Given the description of an element on the screen output the (x, y) to click on. 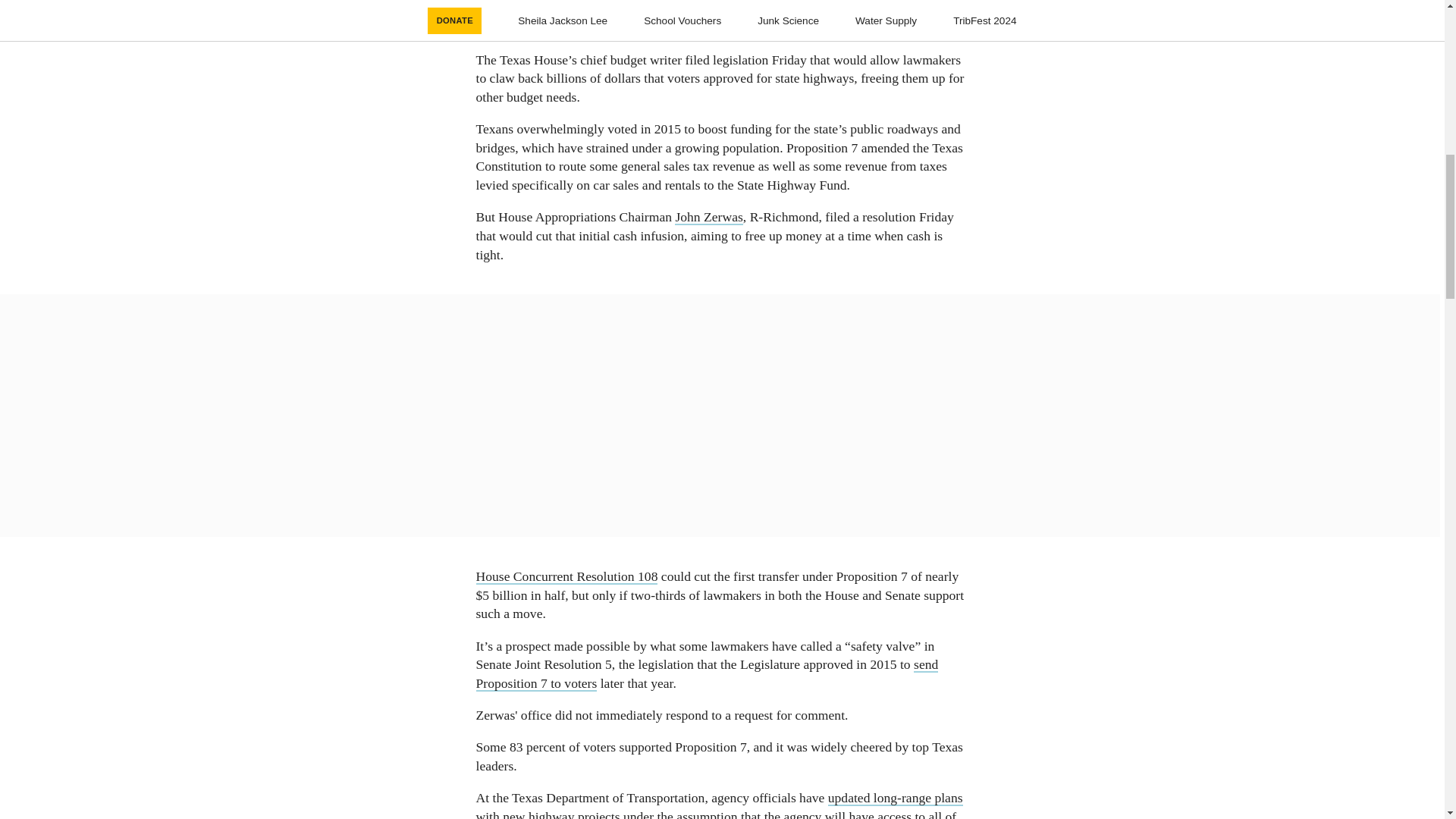
John Zerwas (708, 217)
